Given the description of an element on the screen output the (x, y) to click on. 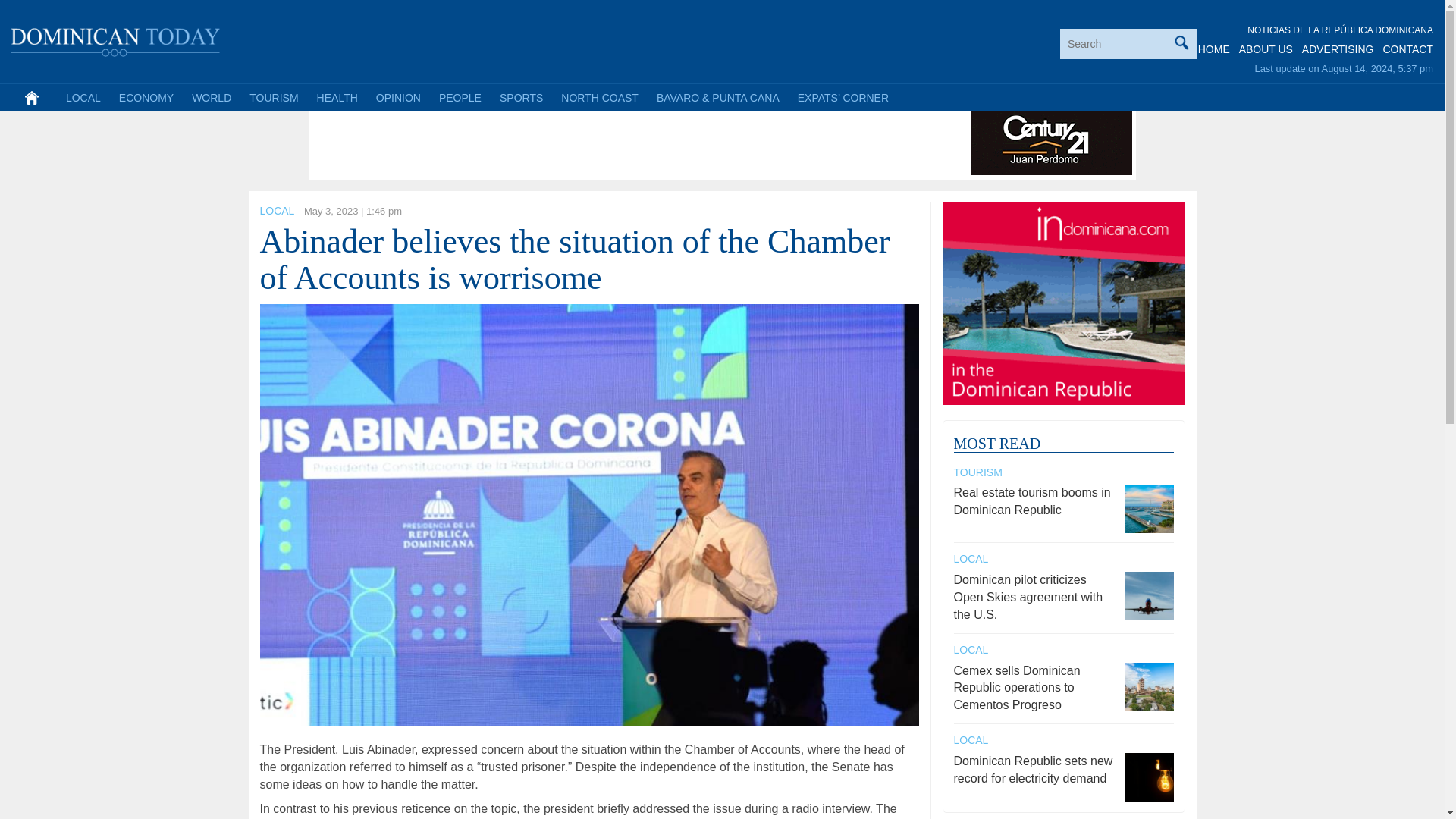
LOCAL (83, 97)
LOCAL (276, 210)
ABOUT US (1265, 49)
ADVERTISING (1337, 49)
Dominican Today News - Santo Domingo and Dominican Republic (116, 38)
ECONOMY (146, 97)
PEOPLE (459, 97)
WORLD (211, 97)
OPINION (397, 97)
